Given the description of an element on the screen output the (x, y) to click on. 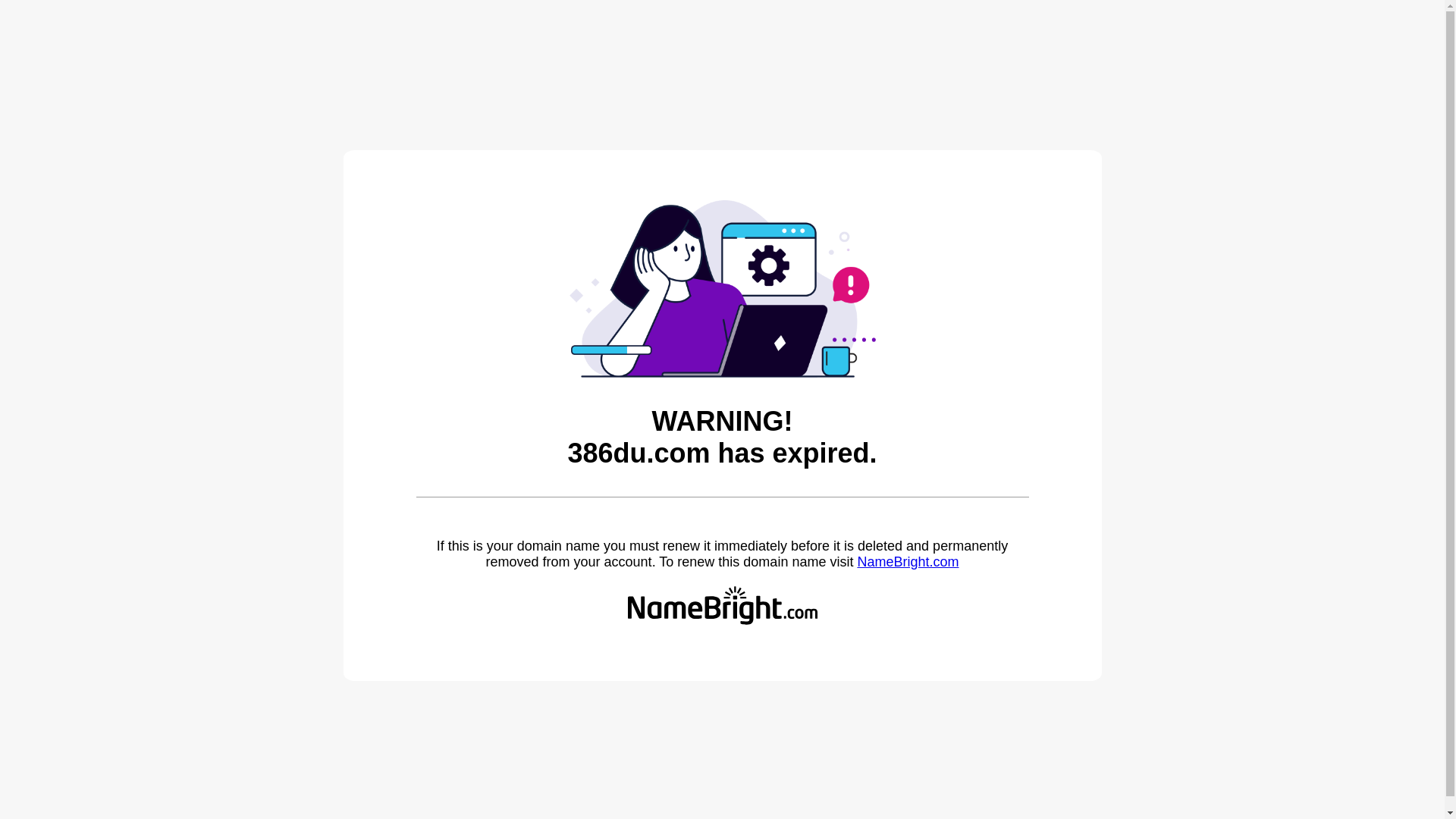
NameBright.com Element type: text (907, 561)
